Given the description of an element on the screen output the (x, y) to click on. 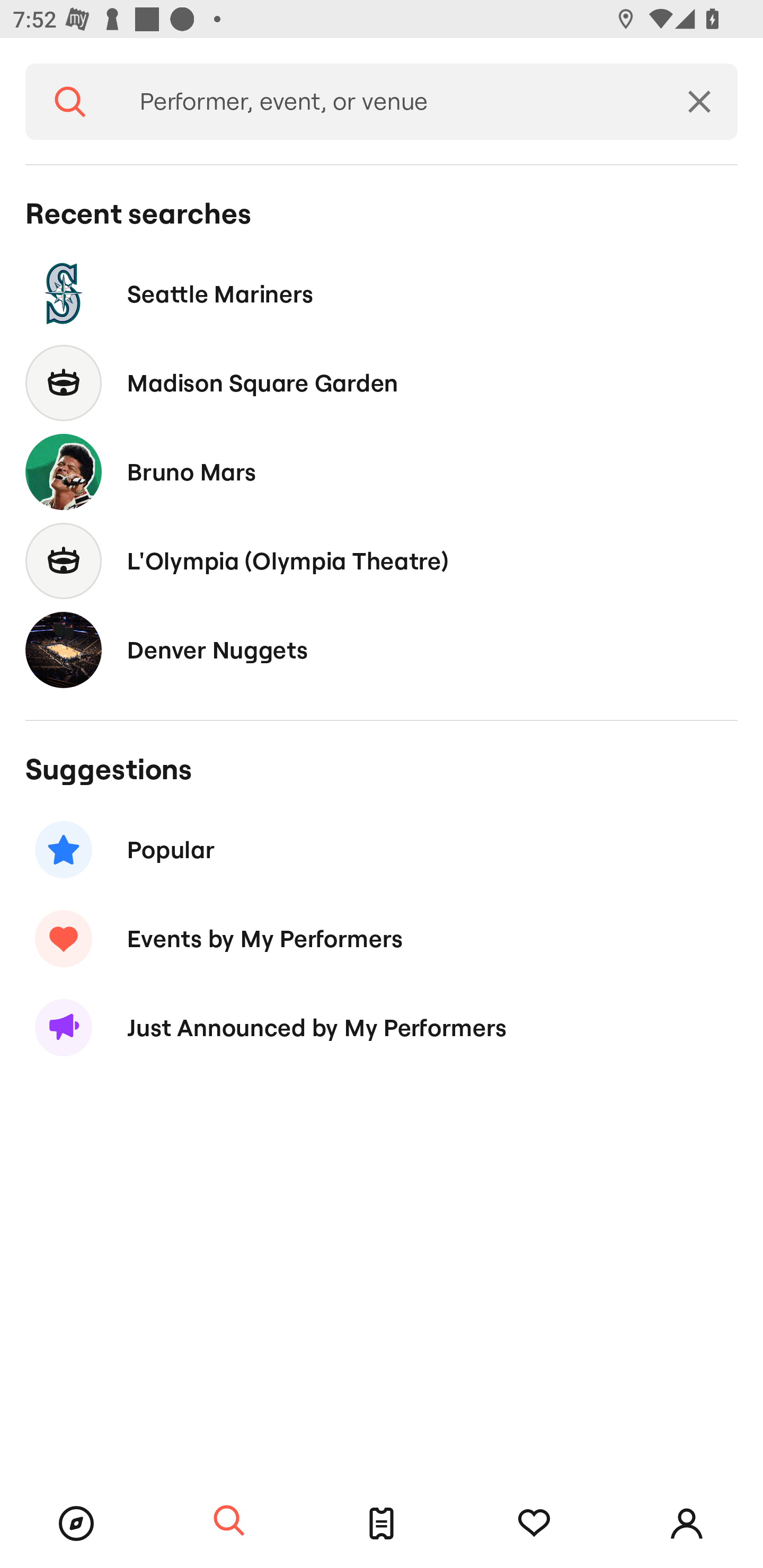
Search (69, 101)
Performer, event, or venue (387, 101)
Clear (699, 101)
Seattle Mariners (381, 293)
Madison Square Garden (381, 383)
Bruno Mars (381, 471)
L'Olympia (Olympia Theatre) (381, 560)
Denver Nuggets (381, 649)
Popular (381, 849)
Events by My Performers (381, 938)
Just Announced by My Performers (381, 1027)
Browse (76, 1523)
Search (228, 1521)
Tickets (381, 1523)
Tracking (533, 1523)
Account (686, 1523)
